Given the description of an element on the screen output the (x, y) to click on. 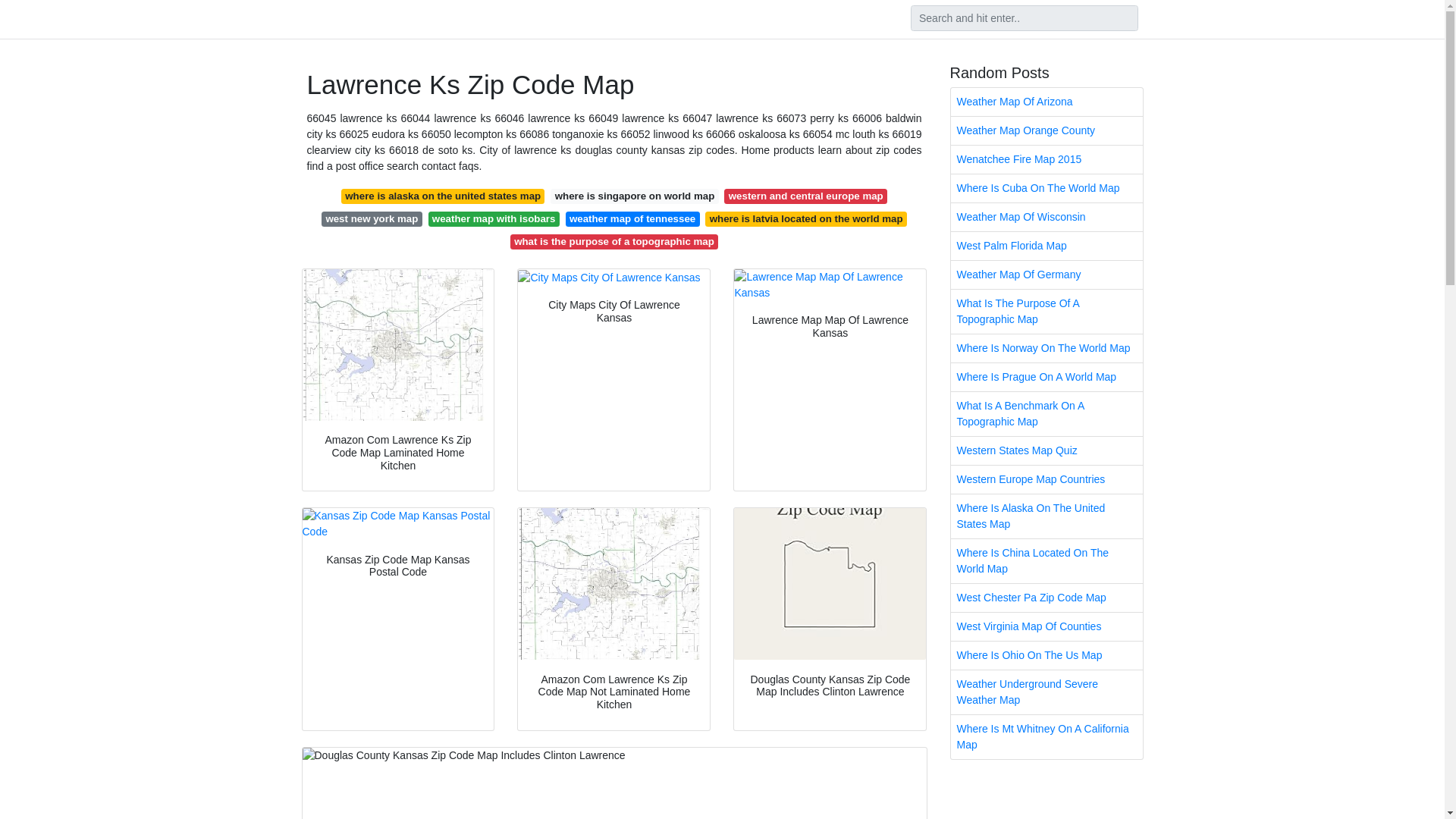
what is the purpose of a topographic map (614, 241)
weather map with isobars (493, 218)
where is alaska on the united states map (442, 196)
where is latvia located on the world map (805, 218)
West Palm Florida Map (1046, 245)
west new york map (371, 218)
western and central europe map (804, 196)
What Is The Purpose Of A Topographic Map (1046, 311)
Weather Map Of Wisconsin (1046, 216)
Where Is Norway On The World Map (1046, 348)
